Given the description of an element on the screen output the (x, y) to click on. 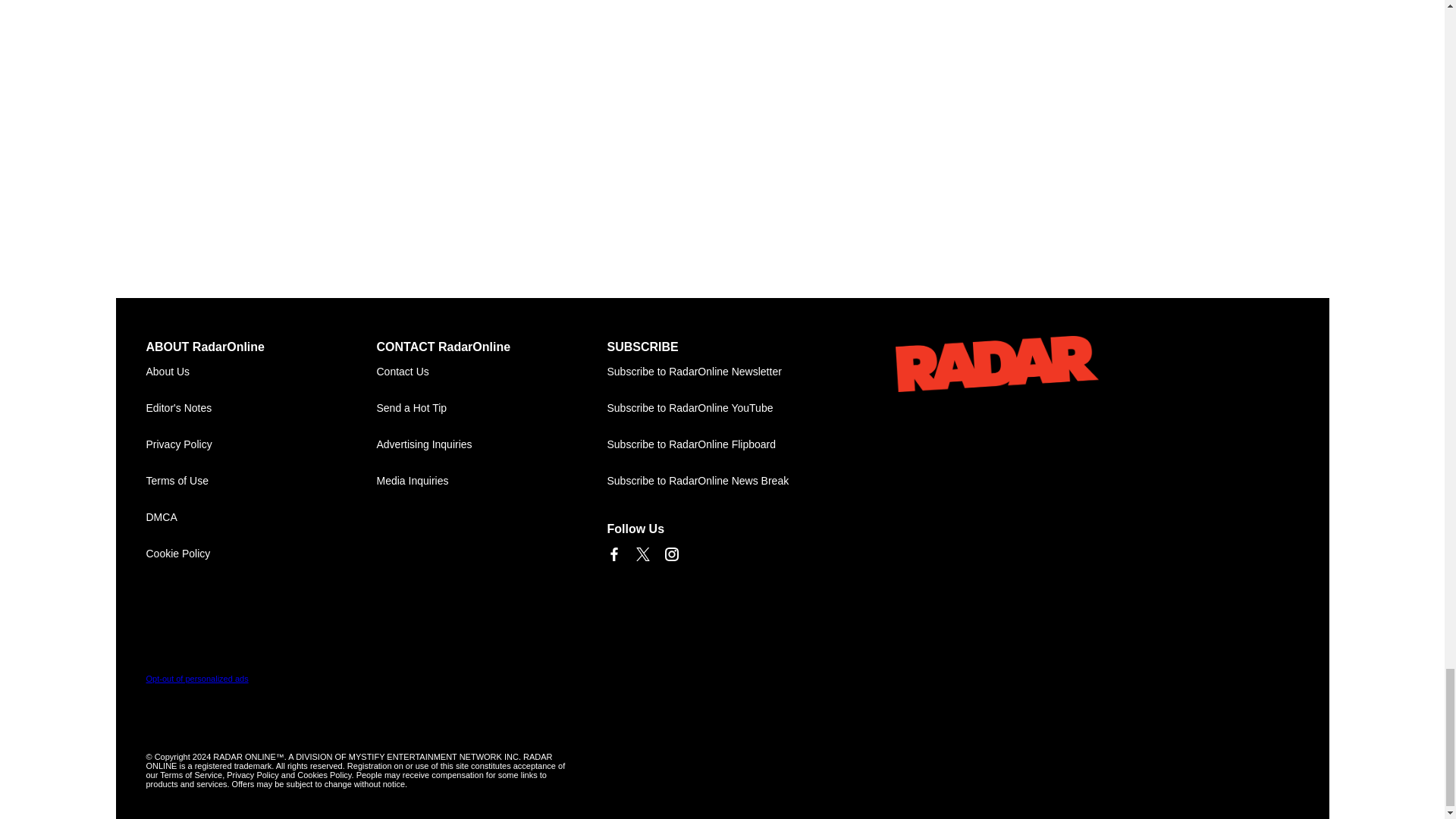
Media Inquiries (491, 481)
Privacy Policy (260, 444)
Link to Instagram (670, 554)
Advertising Inquiries (491, 444)
Contact Us (491, 371)
DMCA (260, 517)
Subscribe (722, 371)
Link to Facebook (613, 554)
Send a Hot Tip (491, 408)
About Us (260, 371)
